Given the description of an element on the screen output the (x, y) to click on. 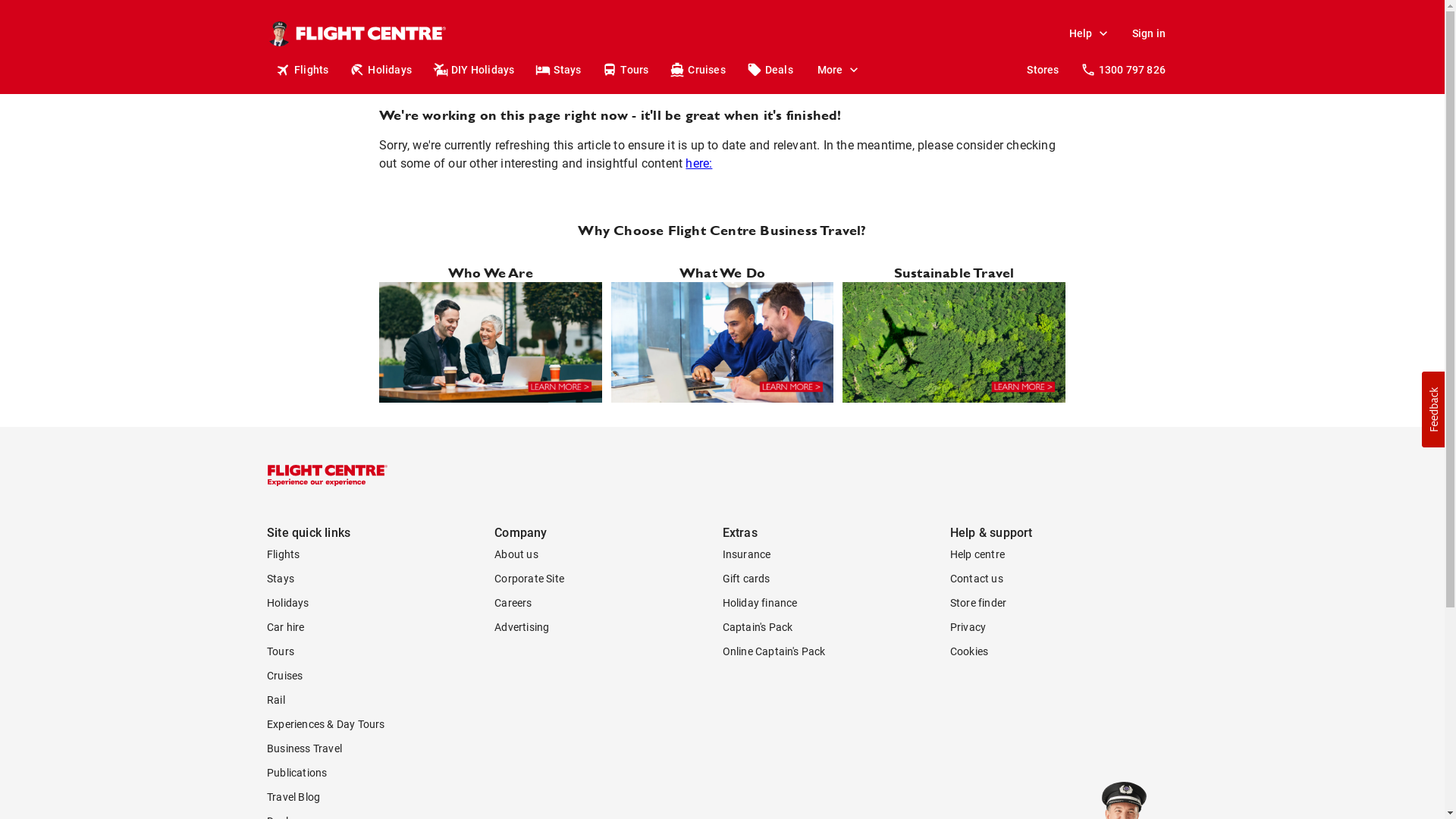
Business Travel Element type: text (380, 748)
Help Element type: text (1088, 33)
Usabilla Feedback Button Element type: hover (1432, 409)
Sign in Element type: text (1148, 33)
1300 797 826 Element type: text (1124, 69)
Corporate Site Element type: text (607, 578)
Privacy Element type: text (1063, 627)
Deals Element type: text (771, 69)
Tours Element type: text (626, 69)
Gift cards Element type: text (835, 578)
Online Captain's Pack Element type: text (835, 651)
Travel Blog Element type: text (380, 796)
Car hire Element type: text (380, 627)
Flight Centre Element type: hover (370, 32)
Contact us Element type: text (1063, 578)
Holidays Element type: text (381, 69)
Flights Element type: text (380, 554)
Cookies Element type: text (1063, 651)
Publications Element type: text (380, 772)
Holidays Element type: text (380, 602)
Careers Element type: text (607, 602)
Experiences & Day Tours Element type: text (380, 724)
Store finder Element type: text (1063, 602)
Flight Centre Element type: hover (327, 475)
Help centre Element type: text (1063, 554)
Stays Element type: text (380, 578)
Stays Element type: text (559, 69)
here: Element type: text (698, 163)
More Element type: text (837, 69)
Tours Element type: text (380, 651)
About us Element type: text (607, 554)
DIY Holidays Element type: text (474, 69)
Rail Element type: text (380, 699)
Captain's Pack Element type: text (835, 627)
Holiday finance Element type: text (835, 602)
Cruises Element type: text (698, 69)
Flights Element type: text (303, 69)
Insurance Element type: text (835, 554)
Advertising Element type: text (607, 627)
Stores Element type: text (1042, 69)
Cruises Element type: text (380, 675)
